Given the description of an element on the screen output the (x, y) to click on. 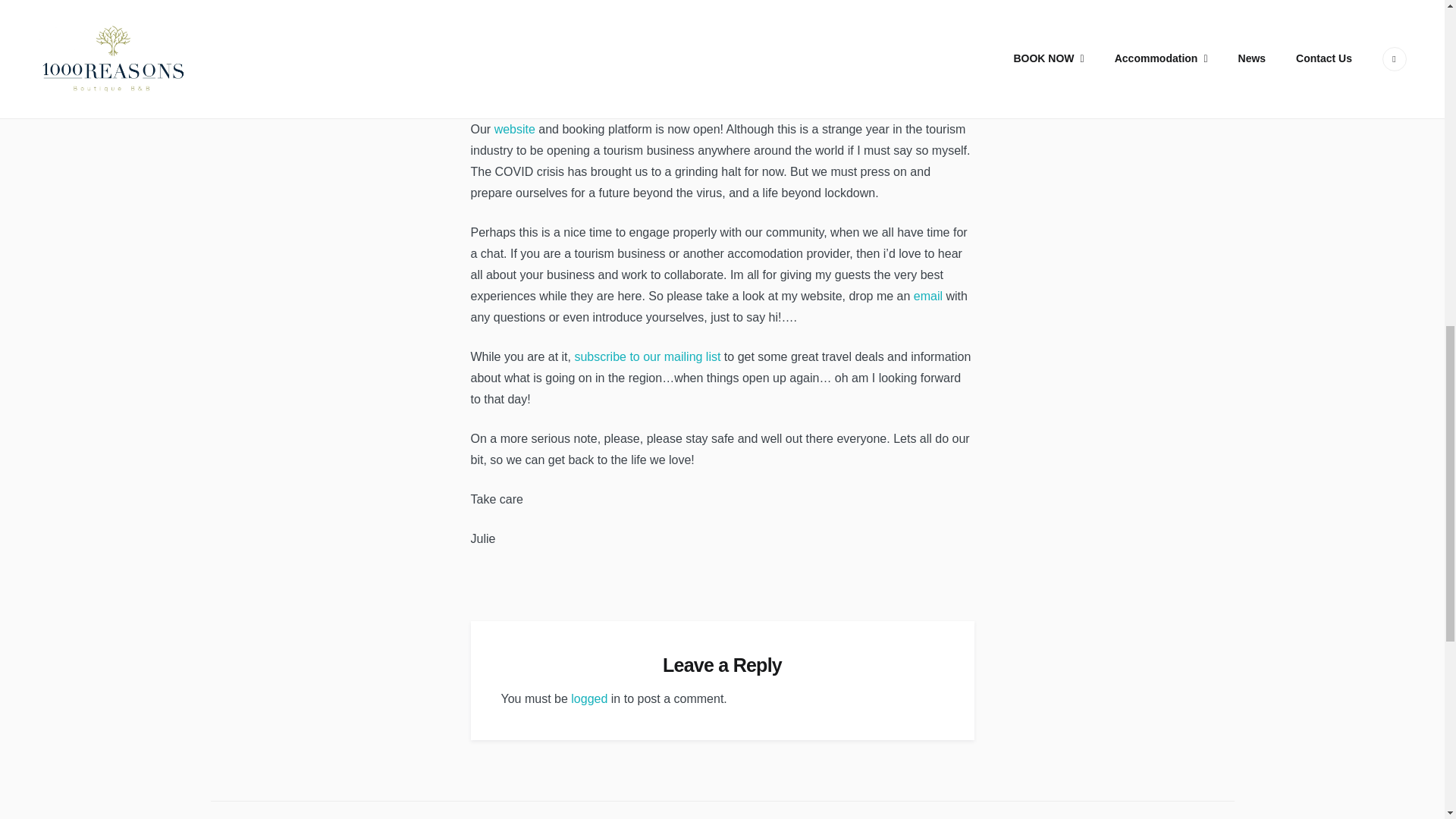
logged (588, 698)
website (515, 128)
subscribe to our mailing list (646, 356)
email (928, 295)
